Given the description of an element on the screen output the (x, y) to click on. 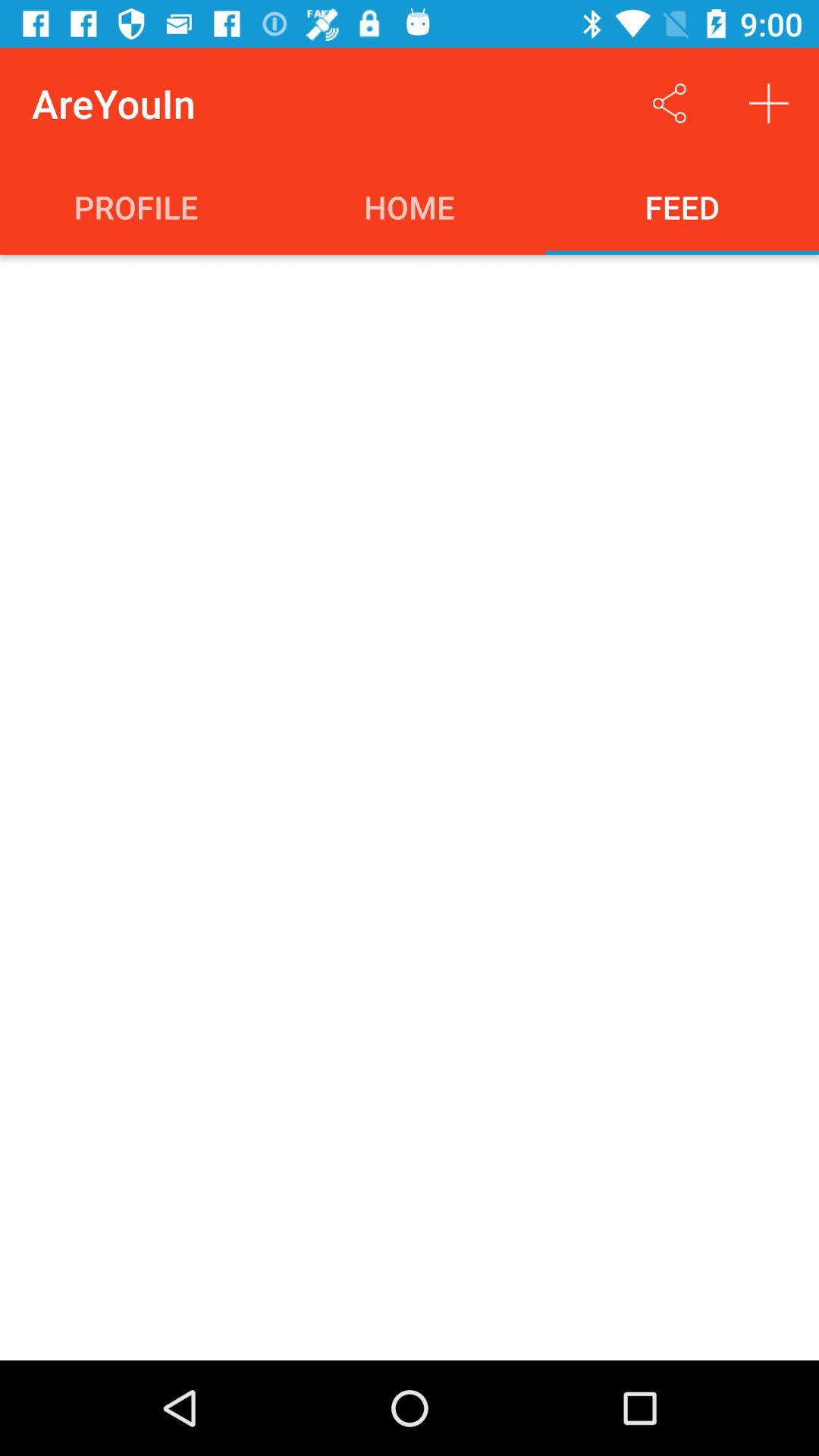
click the item above the feed (669, 103)
